Given the description of an element on the screen output the (x, y) to click on. 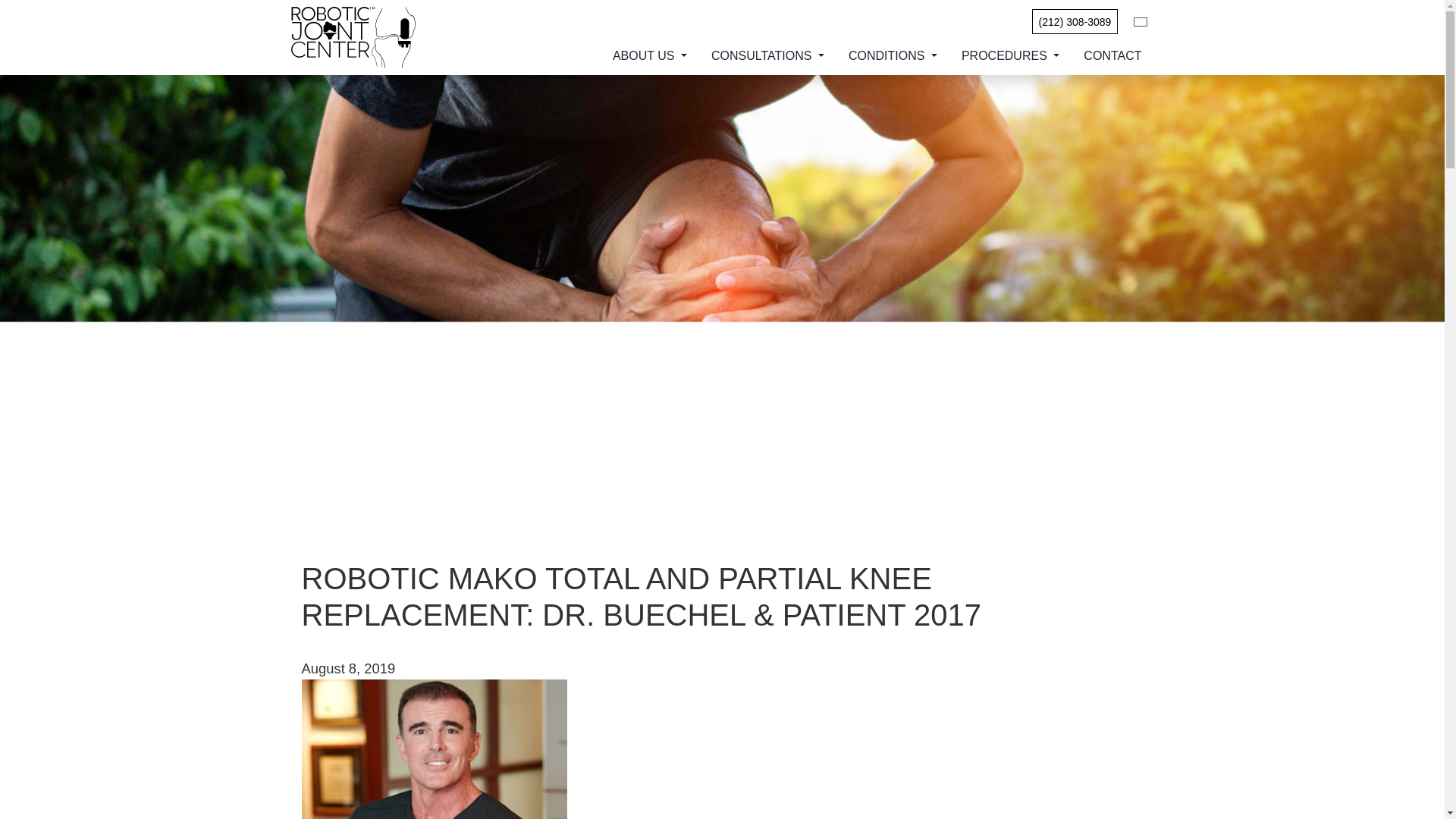
SKIP TO MAIN CONTENT (21, 9)
CONDITIONS (892, 56)
CONSULTATIONS (766, 56)
ABOUT US (648, 56)
Switch to high color contrast version of the website (1140, 21)
